Given the description of an element on the screen output the (x, y) to click on. 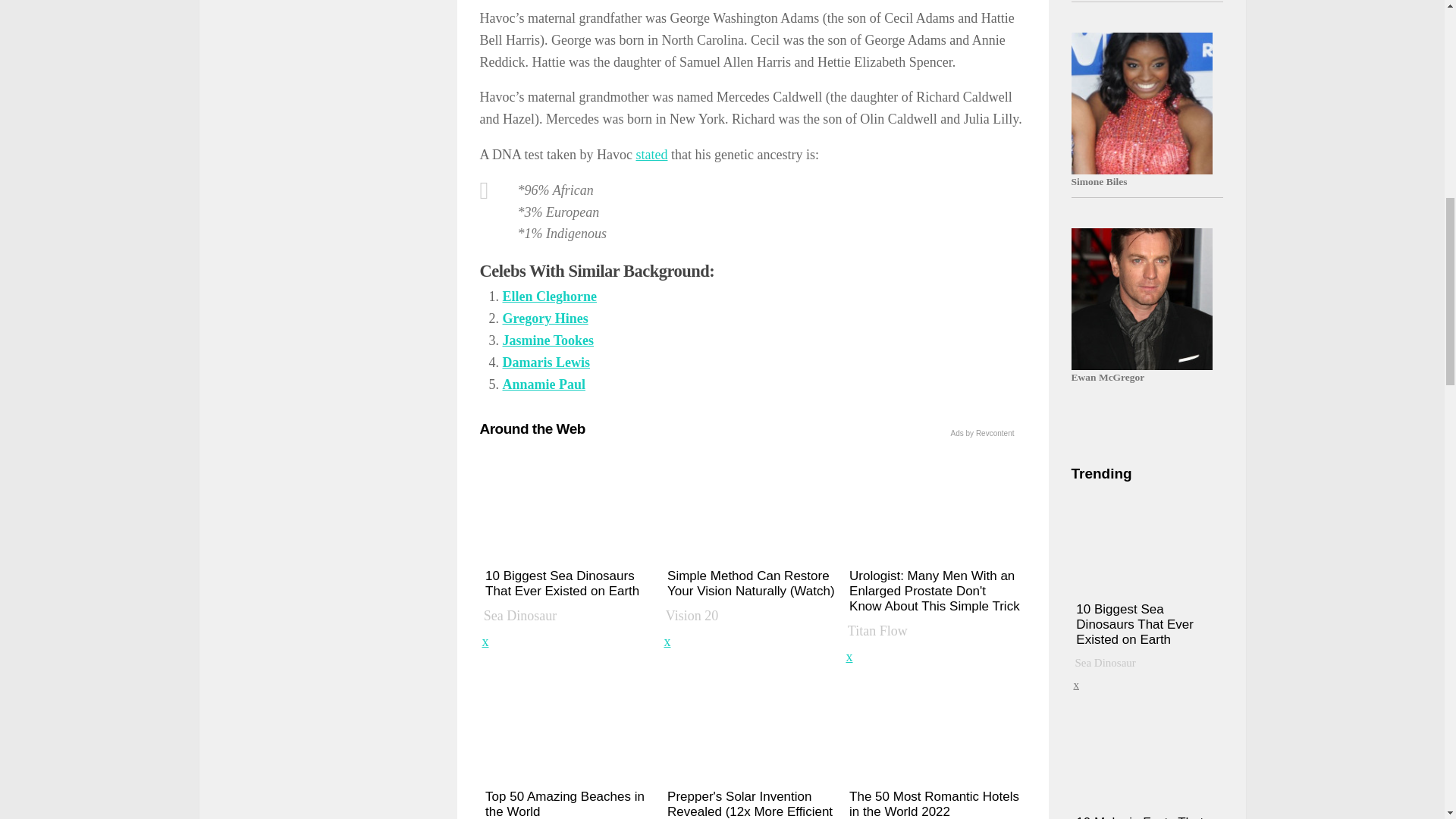
10 Biggest Sea Dinosaurs That Ever Existed on Earth (570, 541)
Annamie Paul (543, 384)
stated (650, 154)
Damaris Lewis (545, 362)
Ellen Cleghorne (549, 296)
Damaris Lewis (545, 362)
Jasmine Tookes (548, 340)
